Given the description of an element on the screen output the (x, y) to click on. 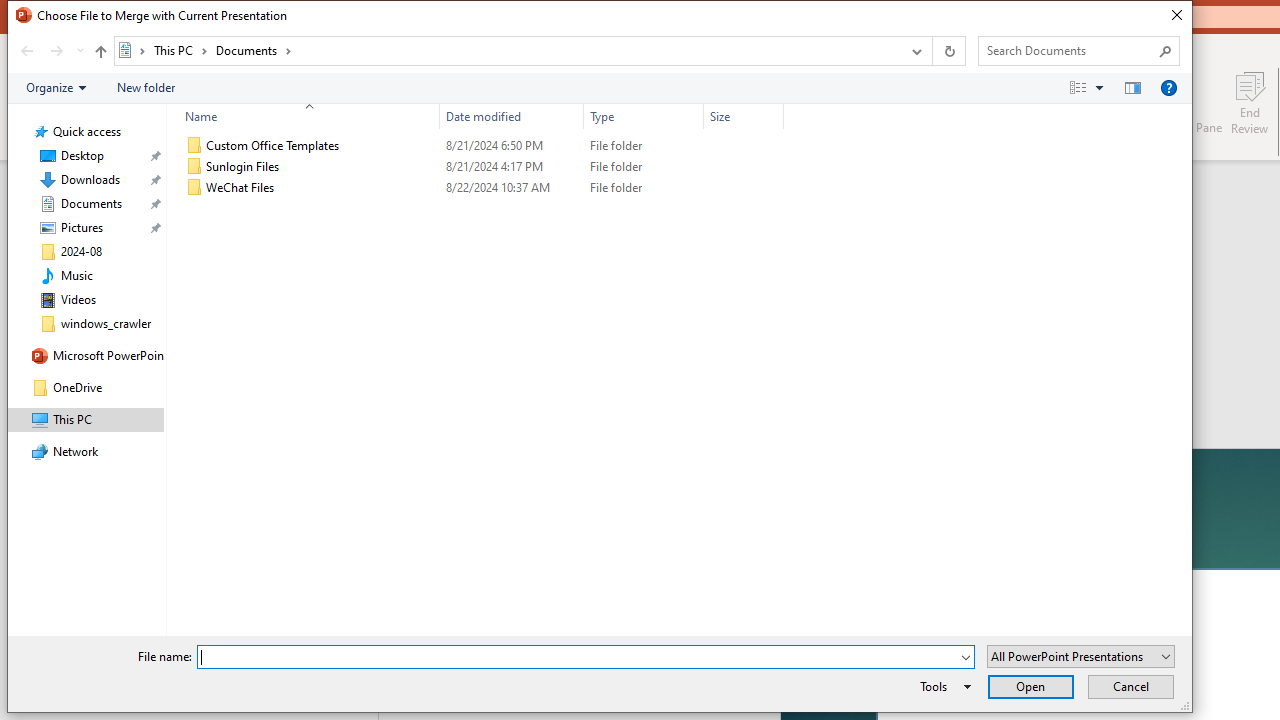
Size (743, 187)
&Help (1168, 87)
Organize (56, 87)
Command Module (599, 87)
Date modified (511, 187)
Previous Locations (914, 51)
File name: (586, 656)
End Review (1249, 102)
New folder (145, 87)
Tools (942, 686)
Files of type: (1080, 656)
Forward (Alt + Right Arrow) (56, 51)
Address band toolbar (931, 51)
